Given the description of an element on the screen output the (x, y) to click on. 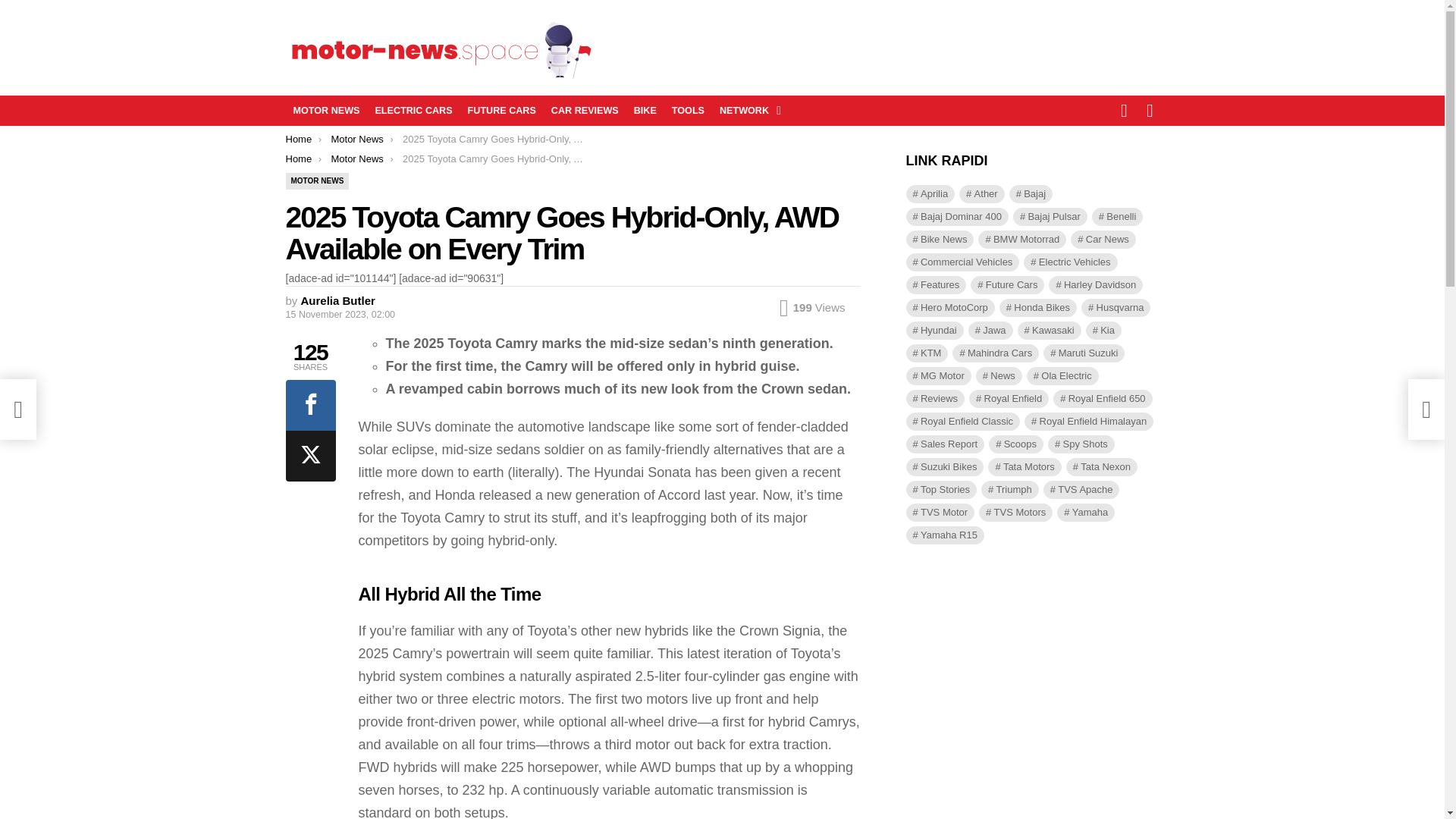
BIKE (644, 110)
MOTOR NEWS (325, 110)
TOOLS (687, 110)
NETWORK (745, 110)
CAR REVIEWS (584, 110)
ELECTRIC CARS (413, 110)
Posts by Aurelia Butler (338, 300)
FUTURE CARS (501, 110)
